Given the description of an element on the screen output the (x, y) to click on. 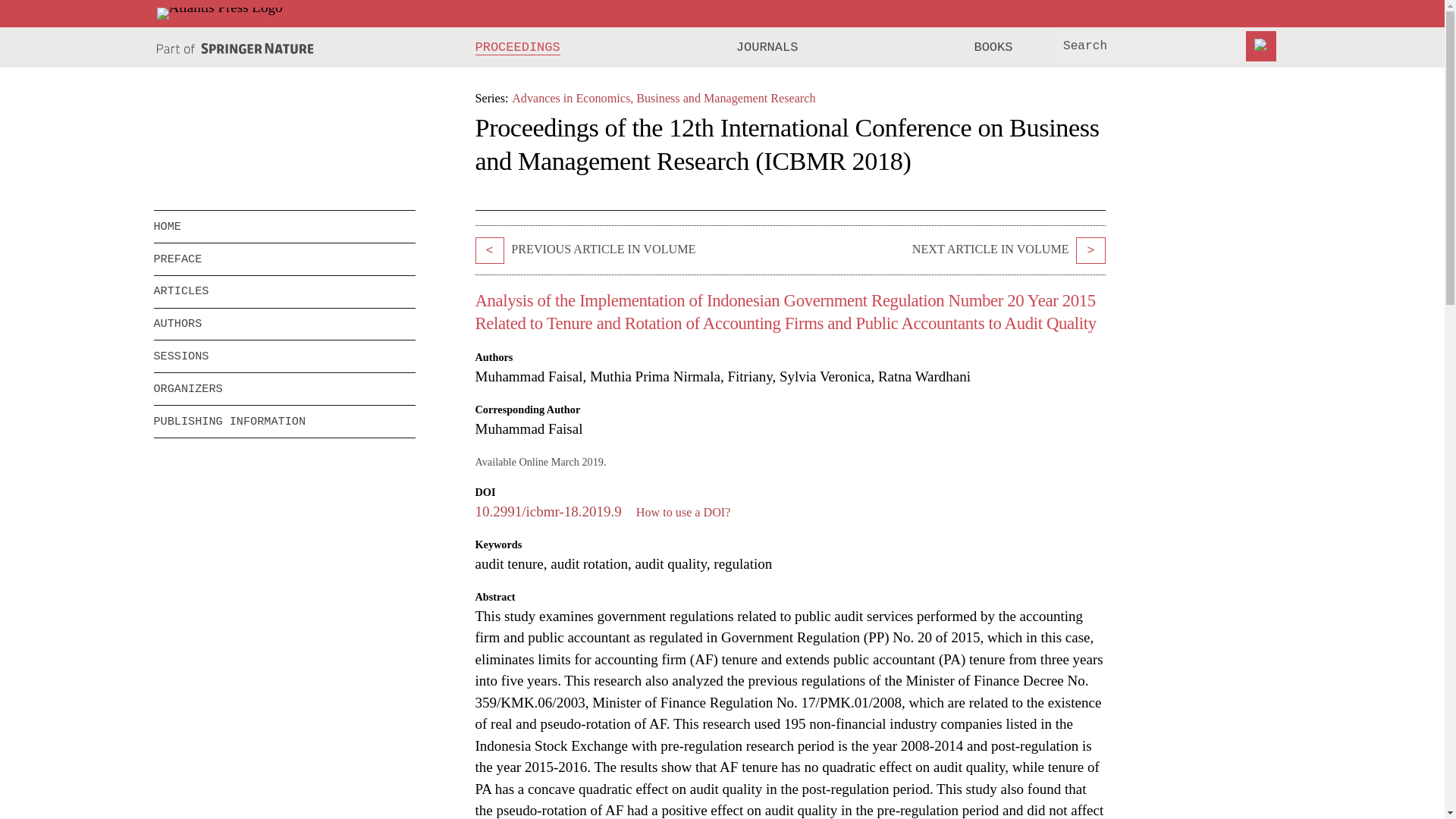
ORGANIZERS (283, 388)
AUTHORS (283, 324)
Value Co-Creation: The Effect on Relationship Quality (1090, 250)
PUBLISHING INFORMATION (283, 421)
Atlantis Press is Part of Springer Nature (234, 48)
SESSIONS (273, 356)
Advances in Economics, Business and Management Research (663, 97)
How to use a DOI? (683, 512)
BOOKS (992, 47)
PROCEEDINGS (518, 47)
